Given the description of an element on the screen output the (x, y) to click on. 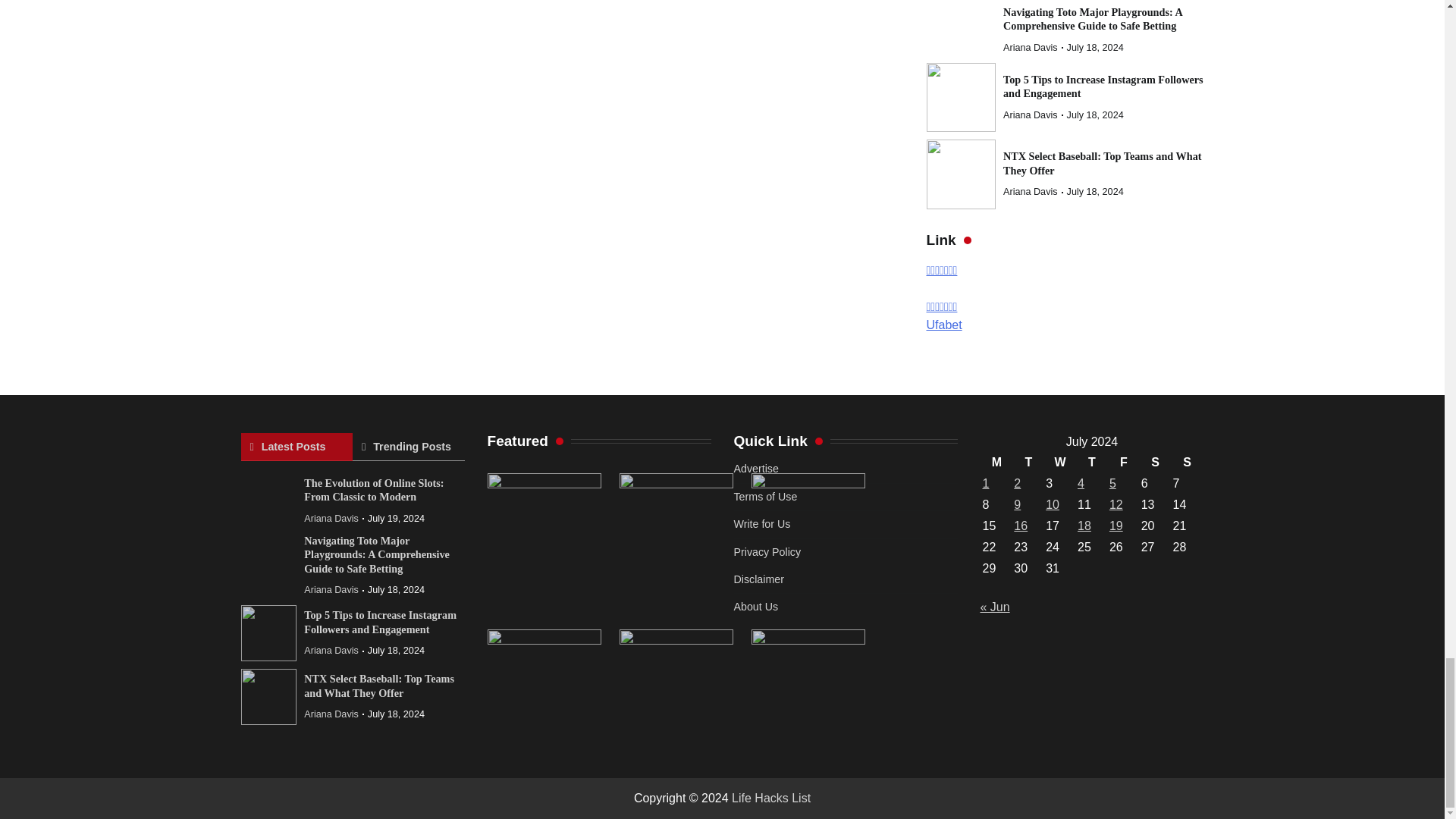
Tuesday (1028, 462)
Thursday (1091, 462)
Wednesday (1060, 462)
Saturday (1155, 462)
Monday (996, 462)
Friday (1123, 462)
Sunday (1187, 462)
